Given the description of an element on the screen output the (x, y) to click on. 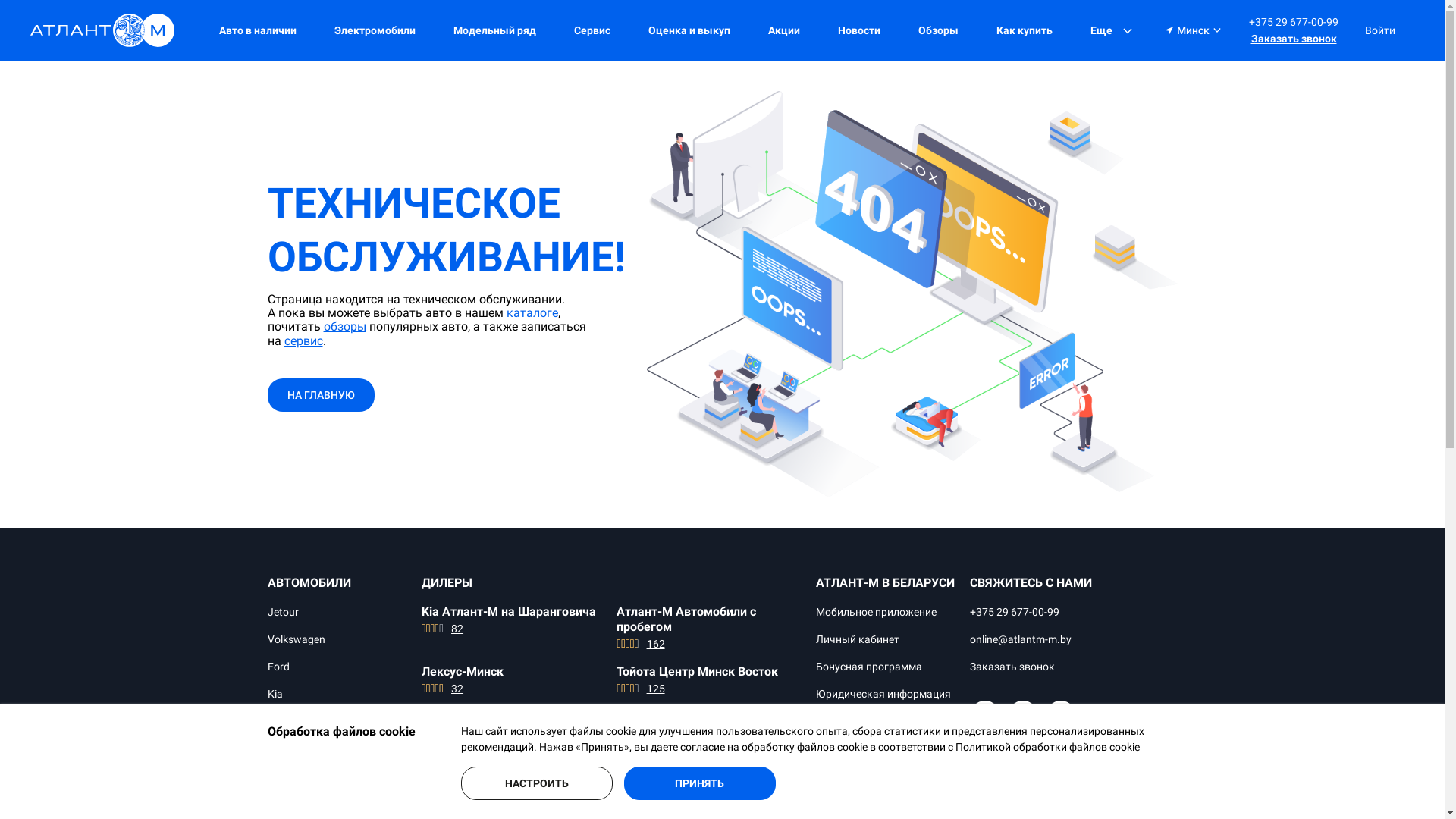
Ford Element type: text (277, 666)
Land Rover Element type: text (293, 748)
Jaguar Element type: text (283, 775)
Youtube Element type: hover (1022, 716)
Volkswagen Element type: text (295, 639)
Jetour Element type: text (282, 611)
Facebook Element type: hover (984, 716)
Toyota Element type: text (282, 803)
Kia Element type: text (274, 693)
+375 29 677-00-99 Element type: text (1014, 611)
+375 29 677-00-99 Element type: text (1293, 21)
Vkontakte Element type: hover (984, 756)
Mazda Element type: text (282, 721)
online@atlantm-m.by Element type: text (1020, 639)
Instagram Element type: hover (1060, 716)
